Given the description of an element on the screen output the (x, y) to click on. 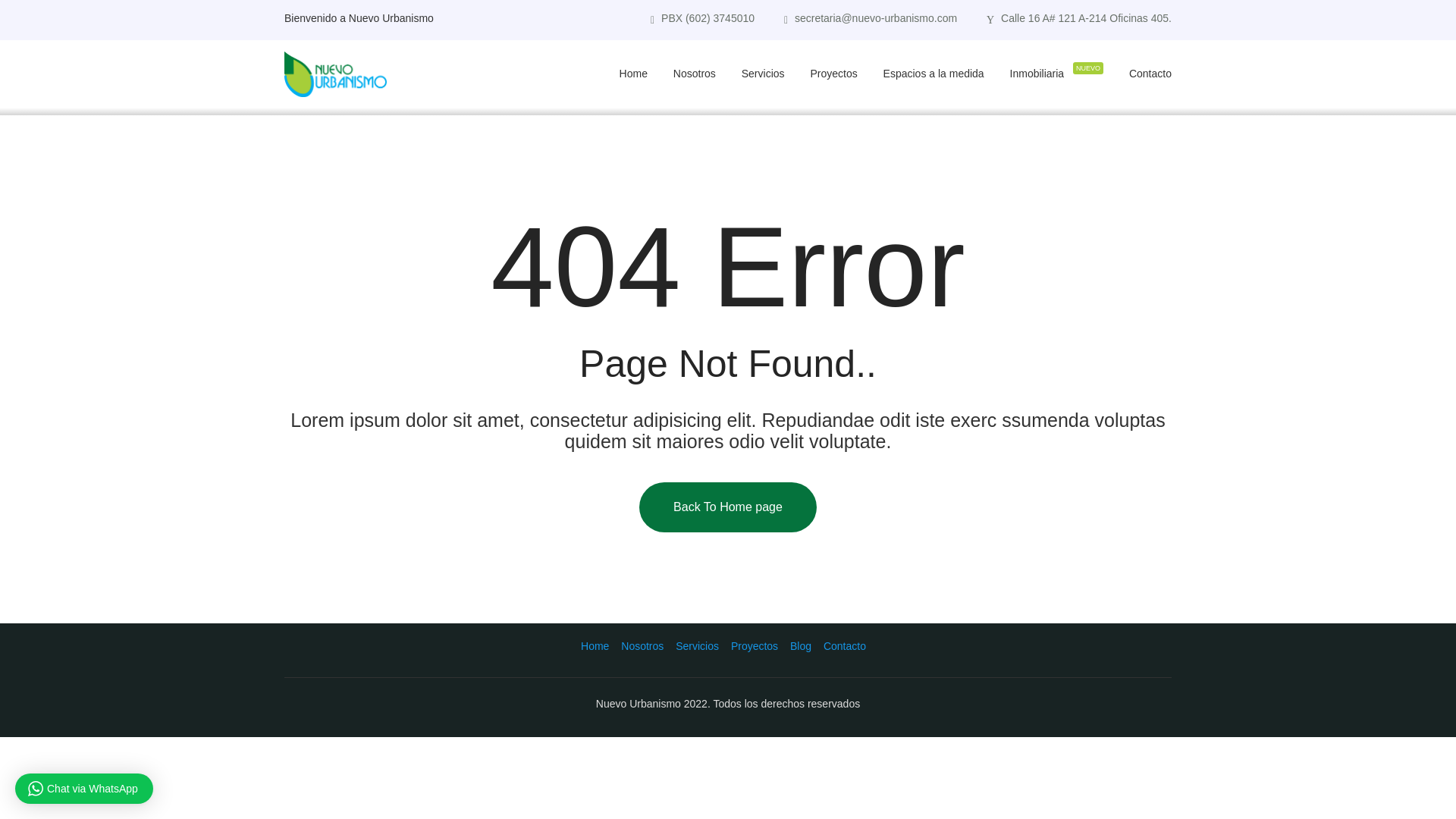
Espacios a la medida (933, 73)
Home (594, 645)
Espacios a la medida (933, 73)
Contacto (845, 645)
Proyectos (753, 645)
Espacios a la medida (933, 73)
Inmobiliaria NUEVO (1056, 73)
Servicios (697, 645)
Nosotros (642, 645)
Back To Home page (727, 507)
